Given the description of an element on the screen output the (x, y) to click on. 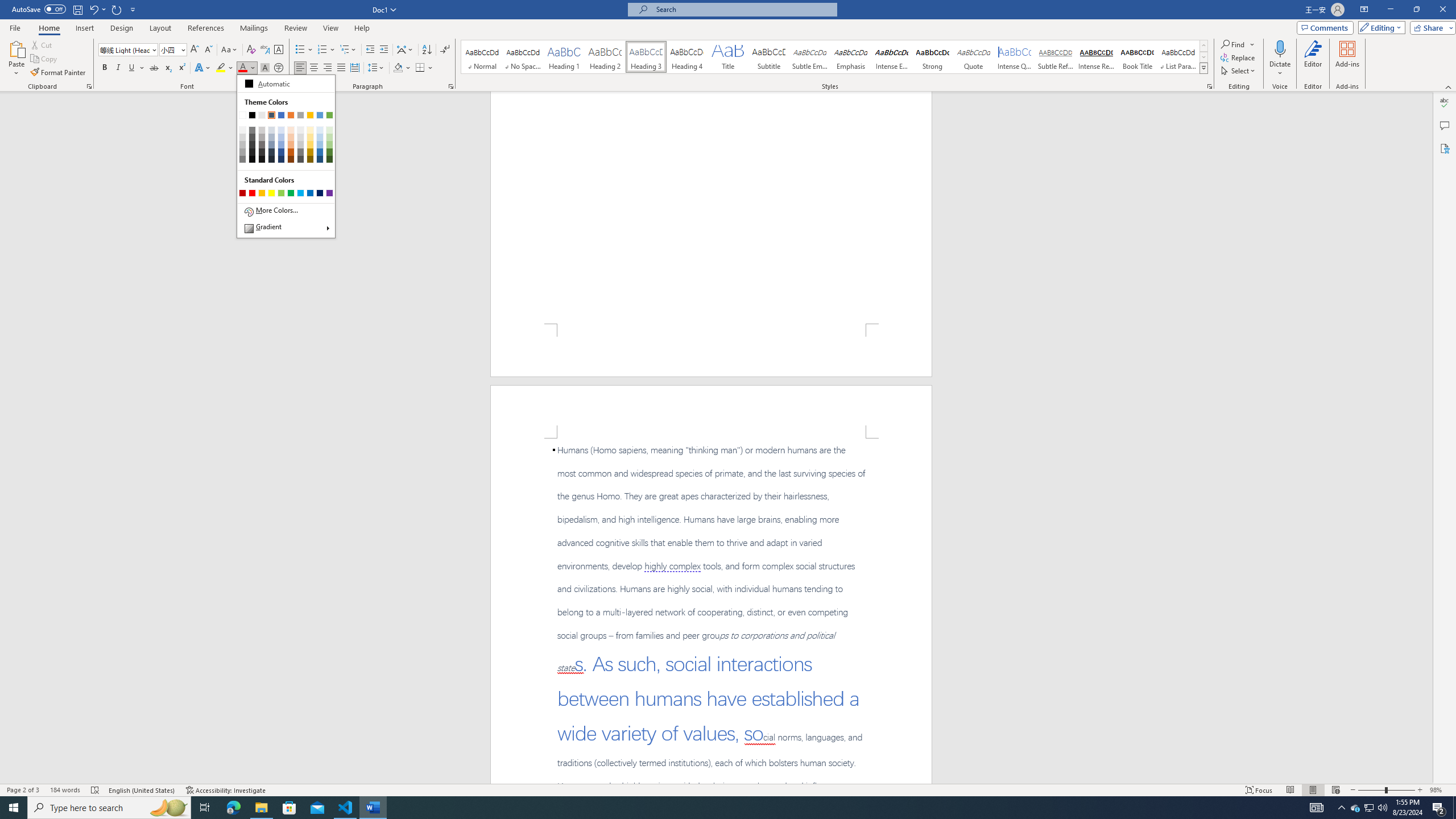
Review (295, 28)
Subtle Emphasis (809, 56)
Book Title (1136, 56)
Subtitle (1368, 807)
Class: NetUIScrollBar (768, 56)
Distributed (1427, 437)
Enclose Characters... (354, 67)
Zoom (278, 67)
Grow Font (1386, 790)
Numbering (193, 49)
Strikethrough (322, 49)
Shading (154, 67)
Editing (402, 67)
